Given the description of an element on the screen output the (x, y) to click on. 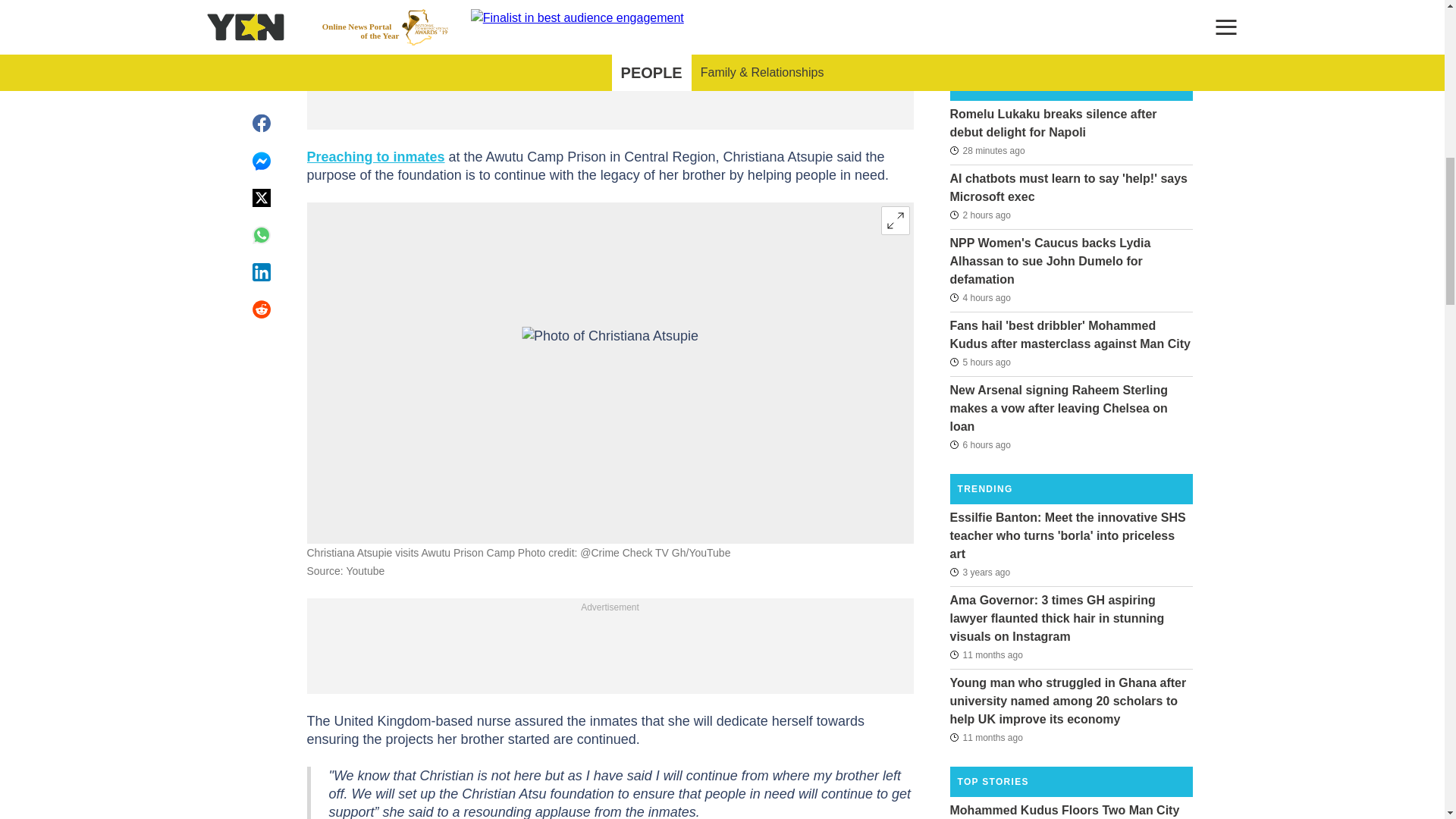
2024-08-31T23:53:21Z (979, 361)
2024-08-31T23:05:35Z (979, 443)
2023-09-25T21:09:40Z (985, 655)
2024-09-01T05:16:20Z (987, 149)
2020-12-23T13:17:20Z (979, 571)
2023-09-17T19:22:48Z (985, 737)
Expand image (895, 220)
Photo of Christiana Atsupie (609, 372)
2024-09-01T01:42:29Z (979, 297)
2024-09-01T03:19:03Z (979, 215)
